Given the description of an element on the screen output the (x, y) to click on. 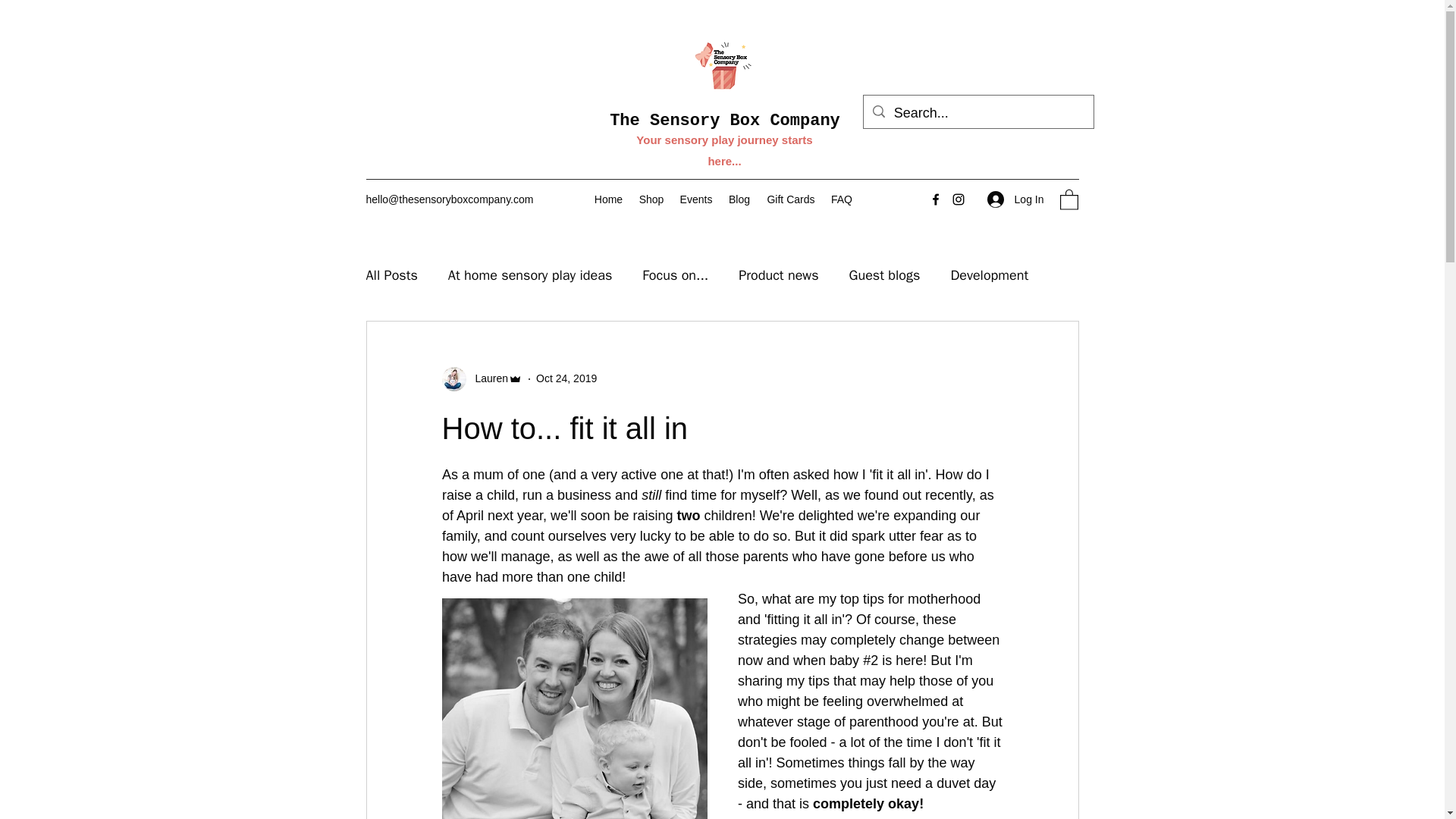
Development (988, 275)
Guest blogs (884, 275)
Focus on... (674, 275)
FAQ (841, 199)
Product news (778, 275)
Lauren (481, 378)
Log In (1015, 199)
Shop (650, 199)
Blog (739, 199)
Gift Cards (791, 199)
Events (695, 199)
All Posts (390, 275)
Home (608, 199)
Oct 24, 2019 (565, 378)
Lauren (486, 378)
